Given the description of an element on the screen output the (x, y) to click on. 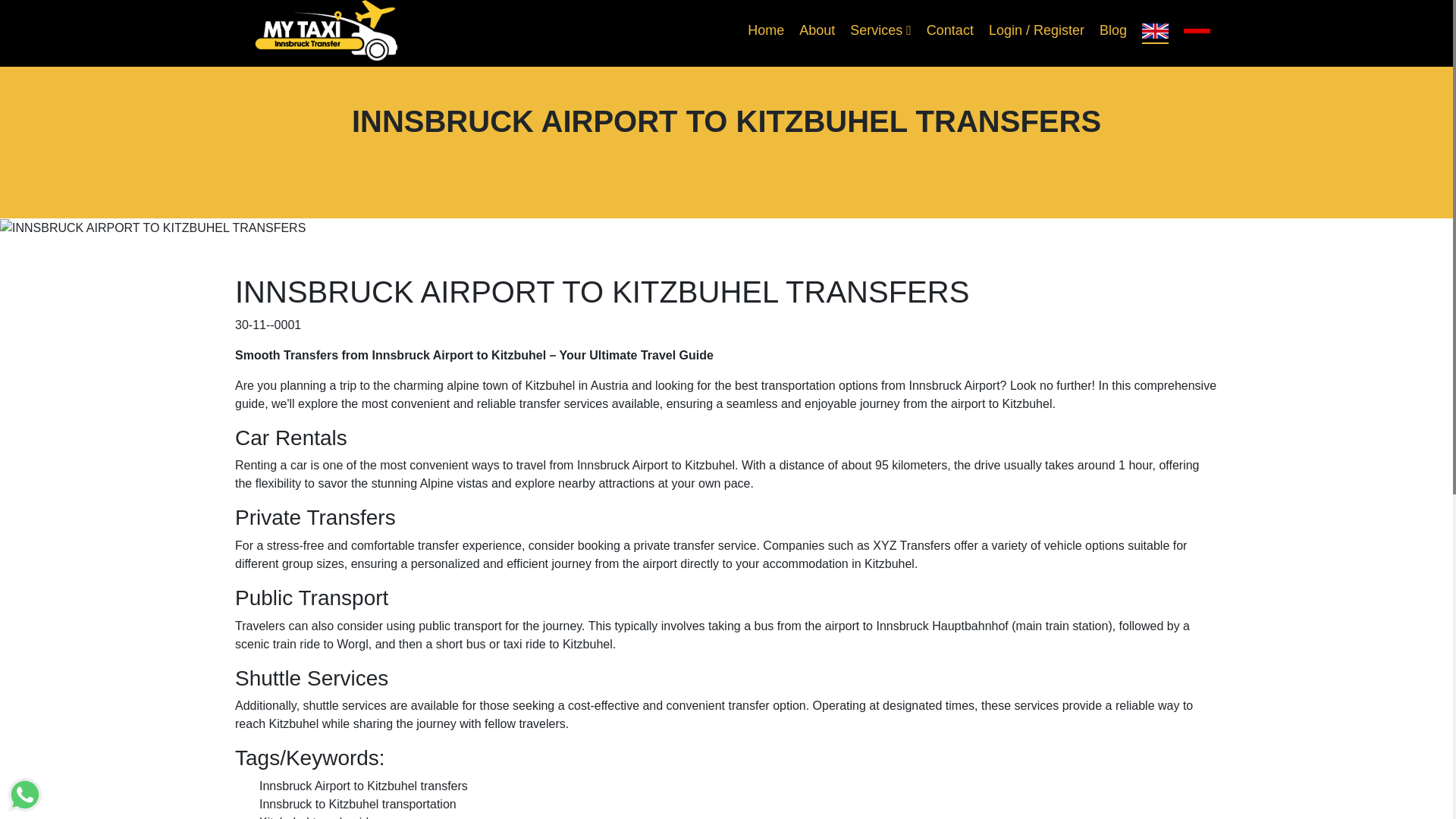
Home (766, 29)
Contact (950, 29)
Services (880, 29)
Blog (1112, 29)
About (816, 29)
Blog (1112, 29)
About (816, 29)
Home (766, 29)
Contact (950, 29)
